Given the description of an element on the screen output the (x, y) to click on. 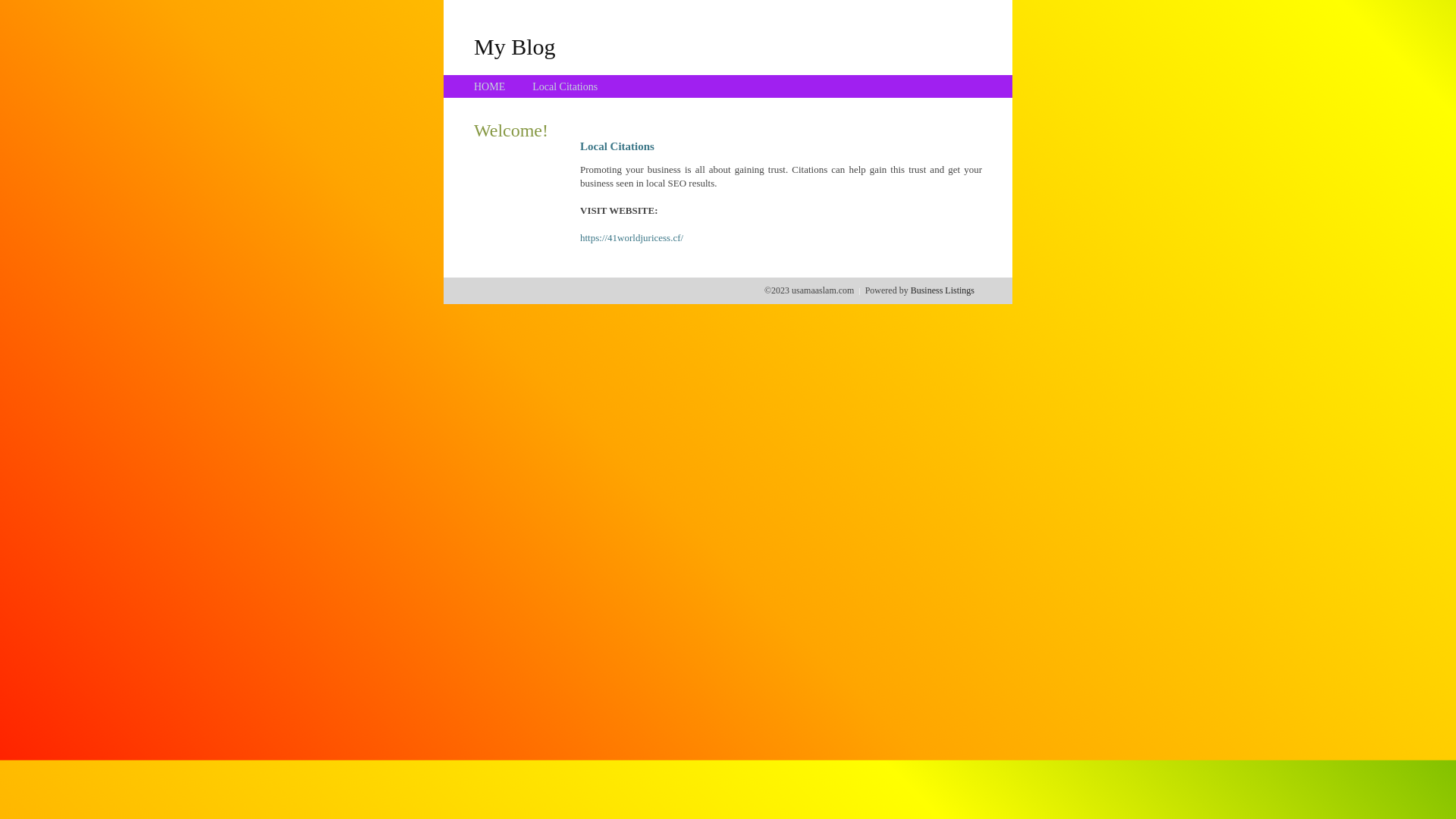
My Blog Element type: text (514, 46)
HOME Element type: text (489, 86)
https://41worldjuricess.cf/ Element type: text (631, 237)
Business Listings Element type: text (942, 290)
Local Citations Element type: text (564, 86)
